Given the description of an element on the screen output the (x, y) to click on. 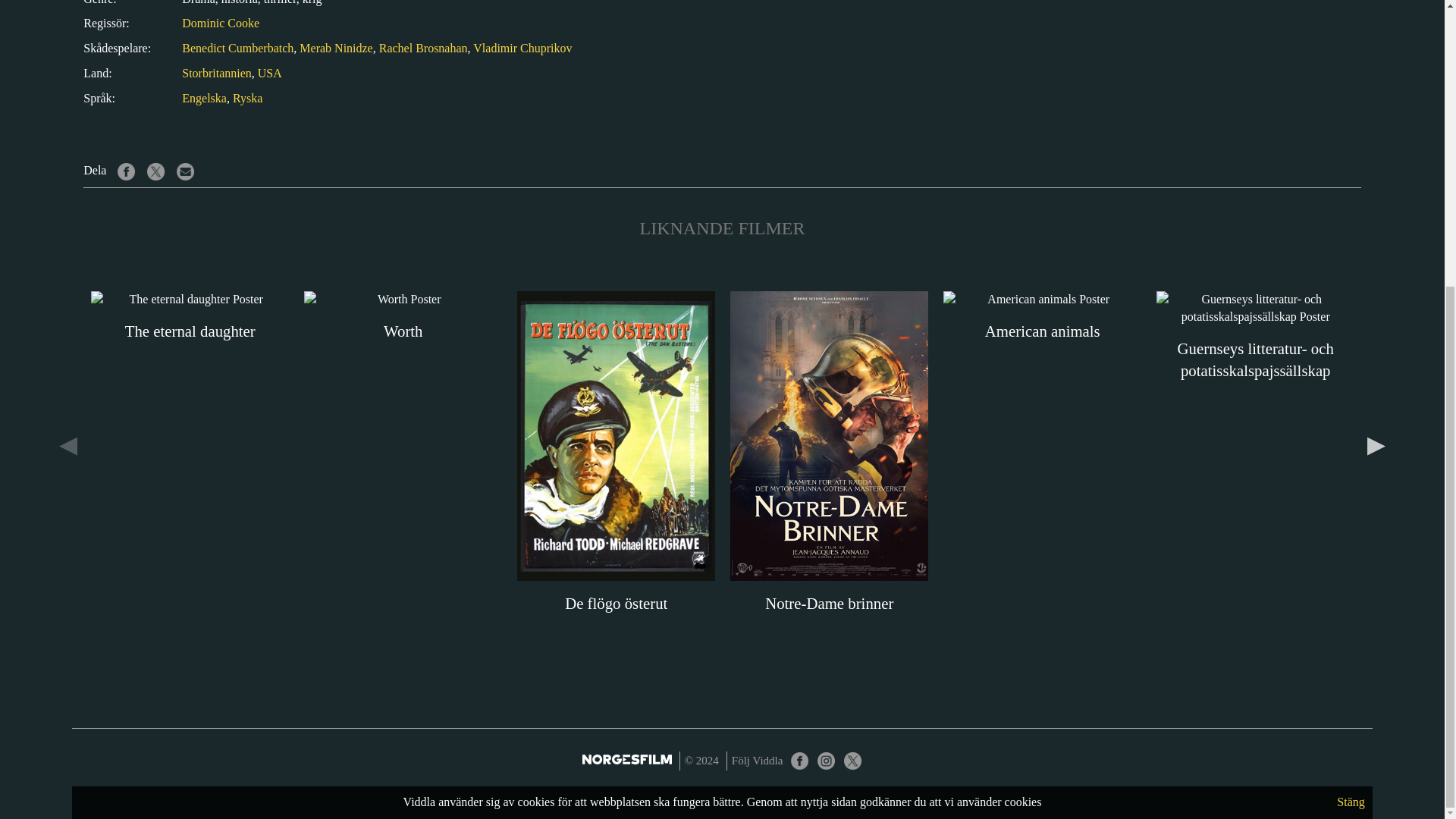
Worth (403, 317)
USA (269, 72)
American animals (1042, 317)
Benedict Cumberbatch (238, 47)
Rachel Brosnahan (422, 47)
Ryska (247, 97)
Storbritannien (216, 72)
Merab Ninidze (335, 47)
Dominic Cooke (220, 22)
Engelska (204, 97)
